Given the description of an element on the screen output the (x, y) to click on. 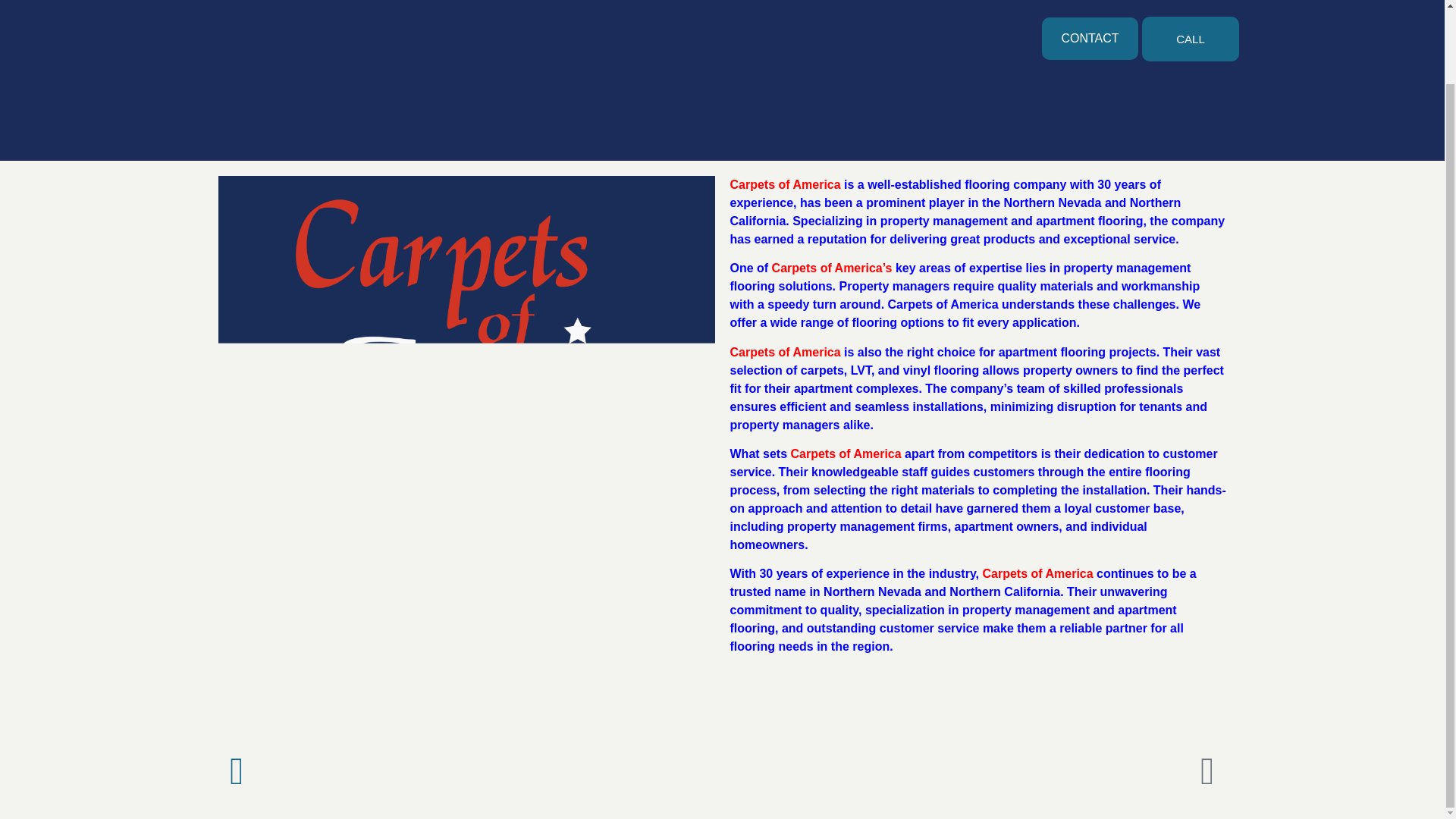
Open AIPRM sidebar (977, 694)
CALL (1190, 38)
CONTACT (1089, 38)
